Given the description of an element on the screen output the (x, y) to click on. 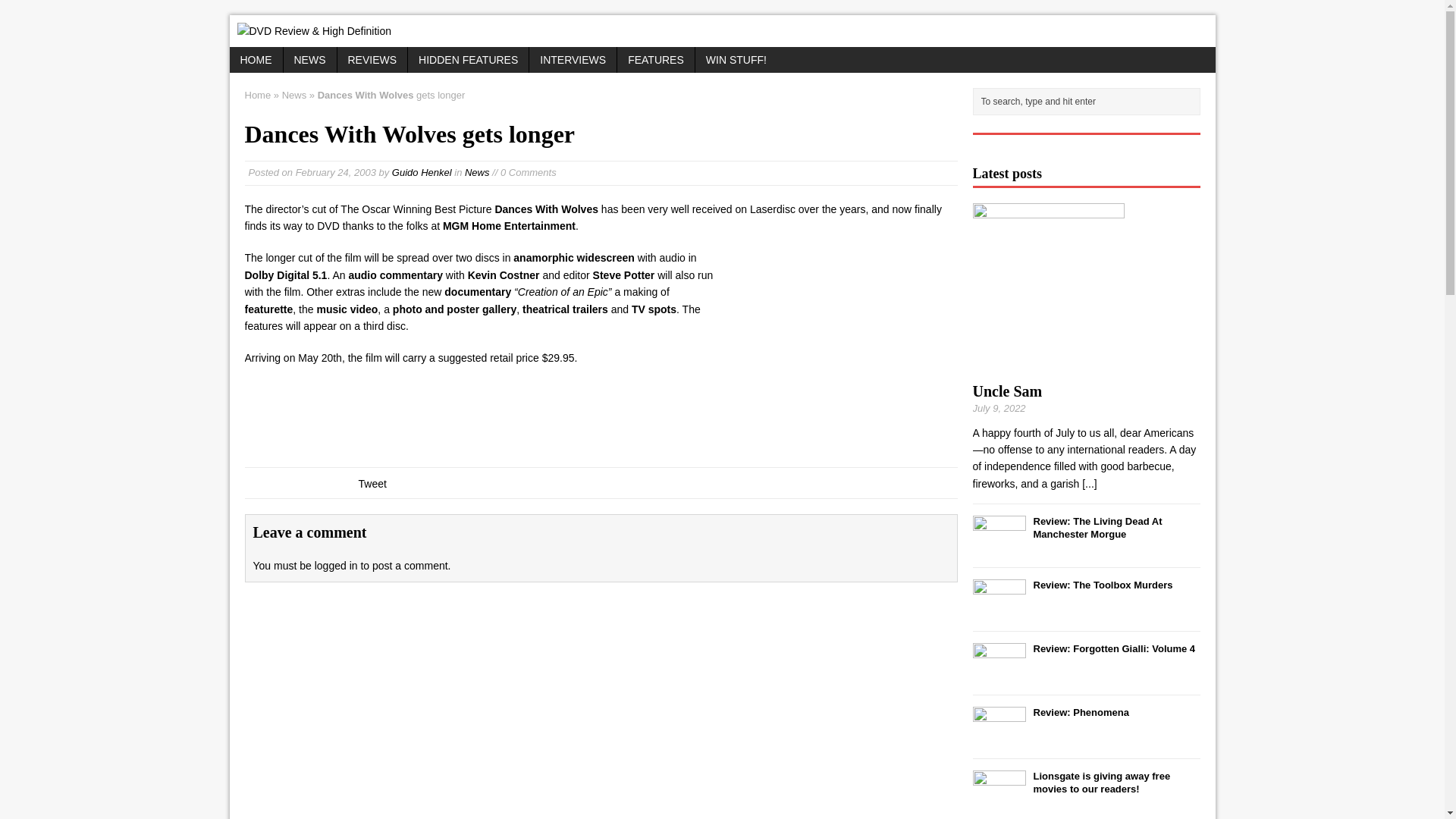
Forgotten Gialli: Volume 4 (1113, 648)
To search, type and hit enter (1089, 101)
FEATURES (655, 59)
News (476, 172)
Posts by Guido Henkel (421, 172)
HOME (255, 59)
Uncle Sam (1048, 364)
Forgotten Gialli: Volume 4 (998, 674)
The Toolbox Murders (998, 610)
Uncle Sam (1007, 391)
